Given the description of an element on the screen output the (x, y) to click on. 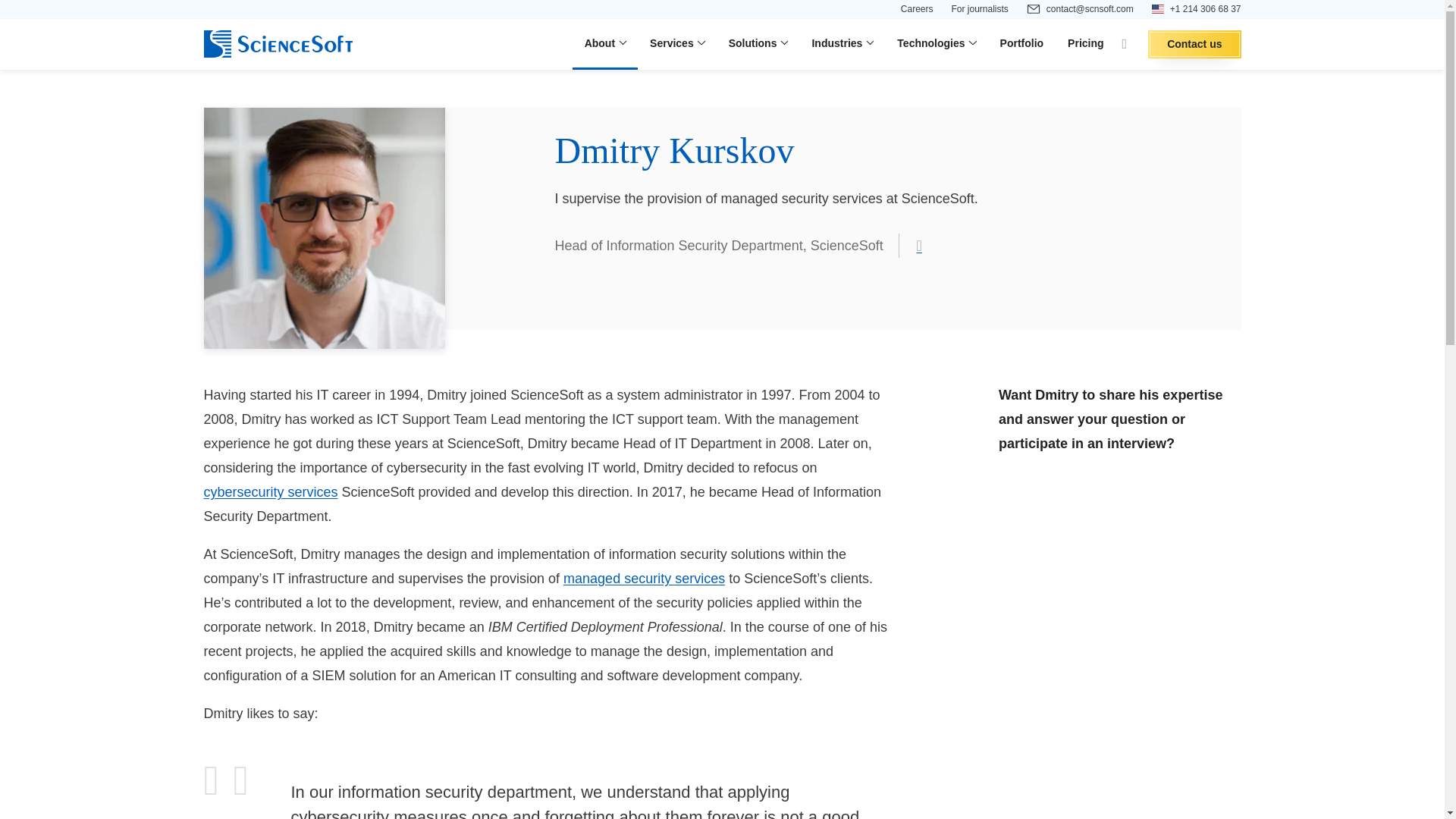
Reach out to Dmitry (1119, 482)
For journalists (978, 8)
Careers (917, 8)
